Given the description of an element on the screen output the (x, y) to click on. 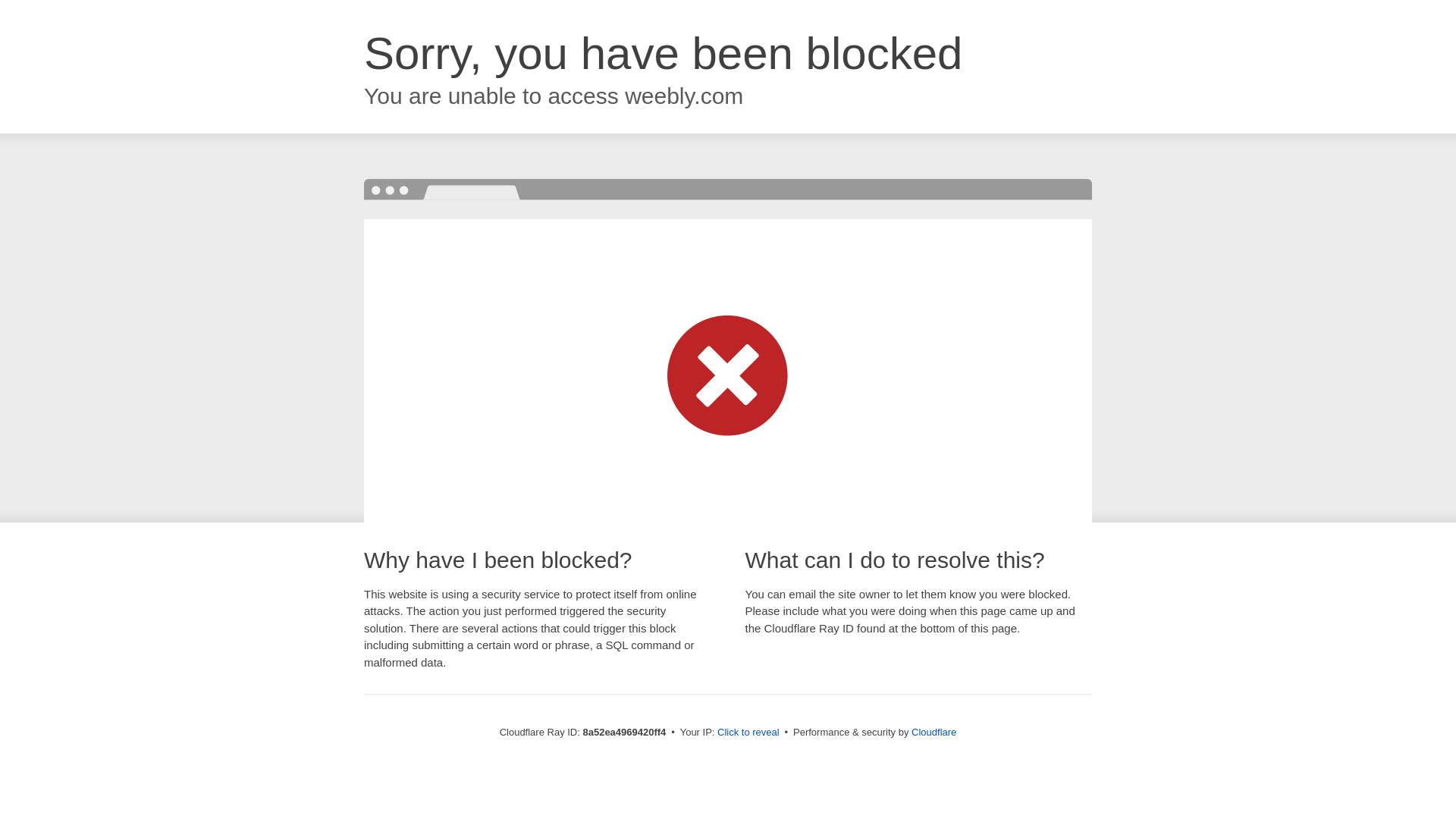
Cloudflare (933, 731)
Click to reveal (747, 732)
